Given the description of an element on the screen output the (x, y) to click on. 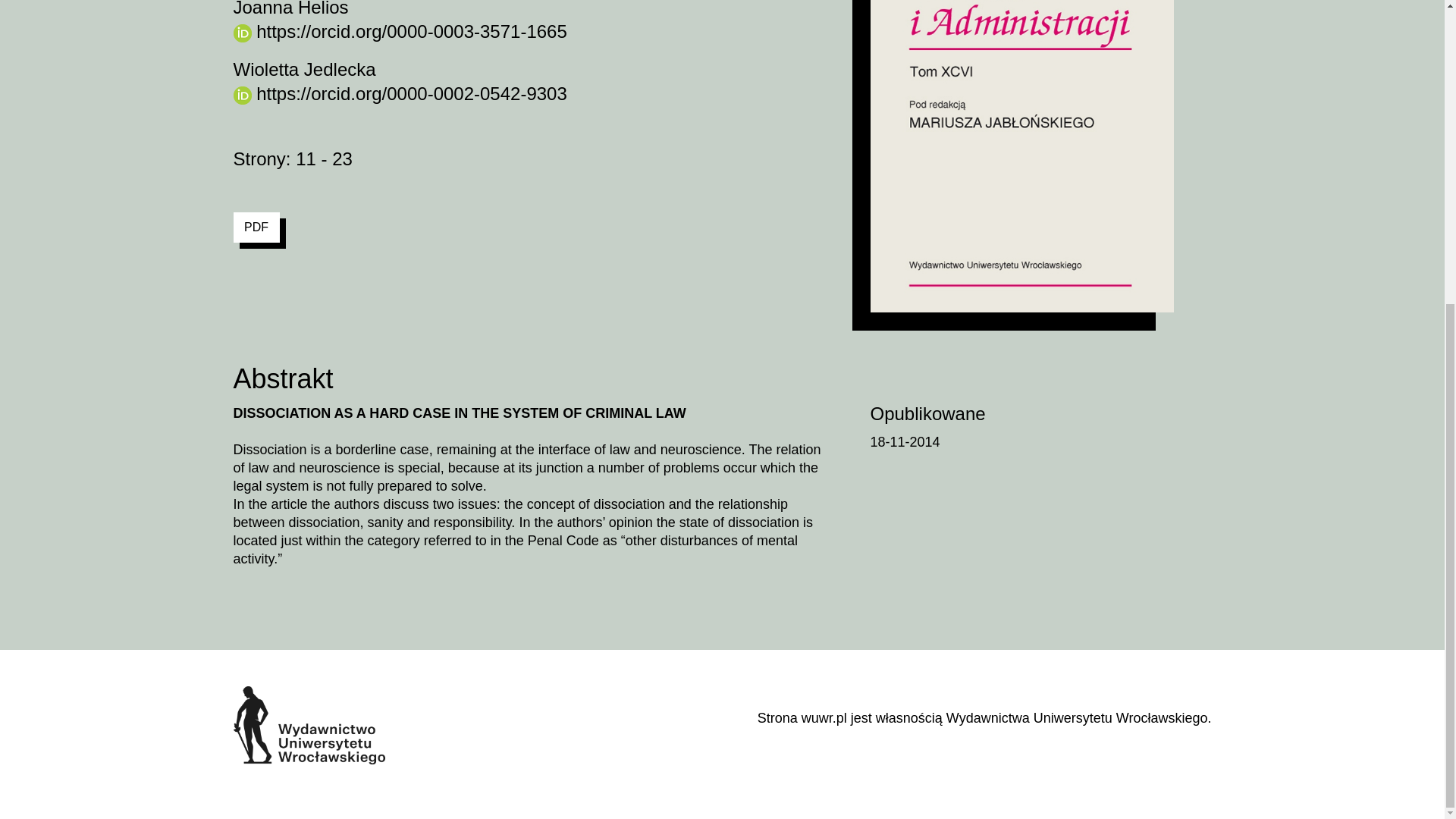
PDF (255, 227)
